Given the description of an element on the screen output the (x, y) to click on. 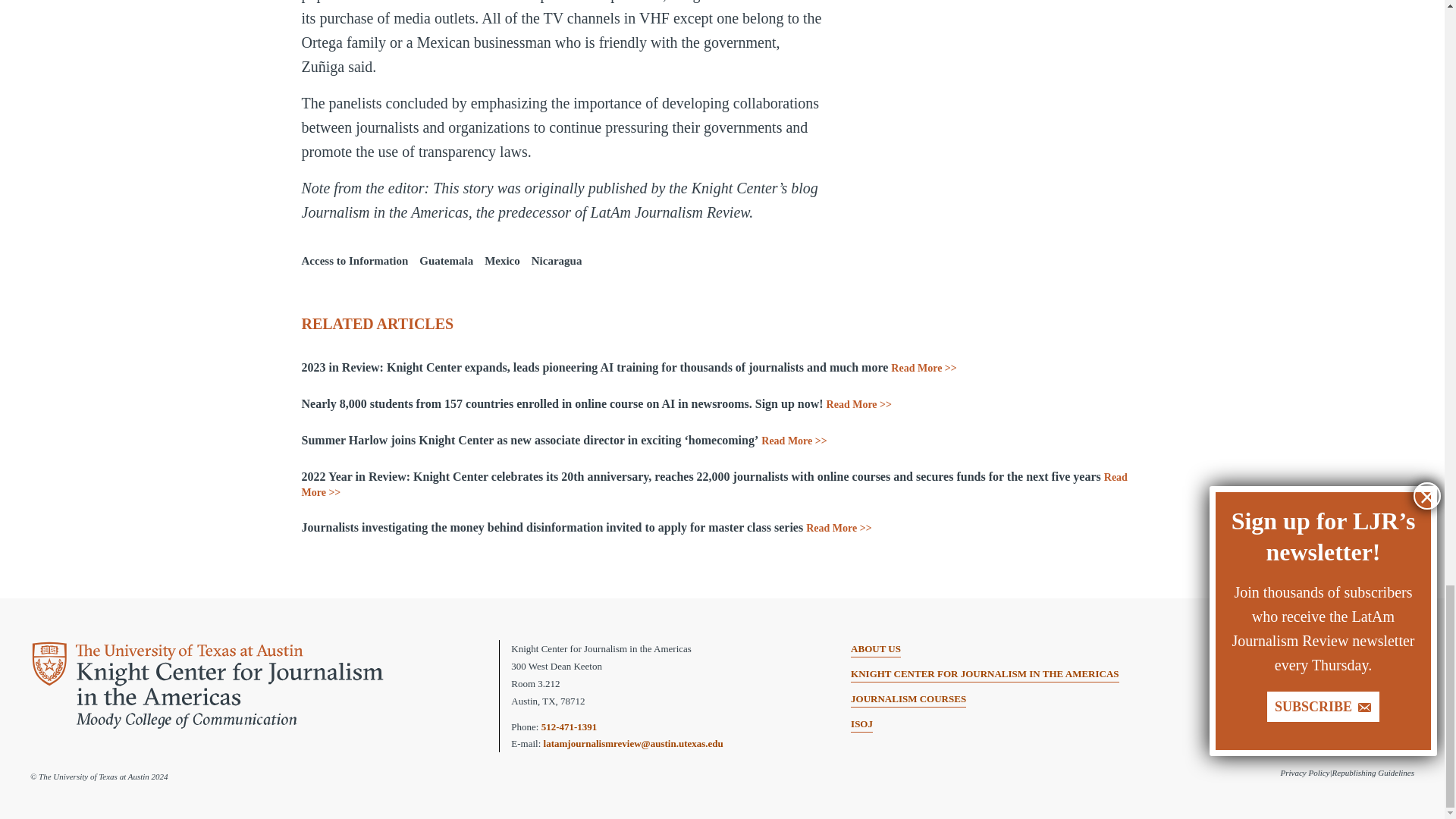
facebook (1356, 649)
Access to Information (355, 260)
linkedin (1403, 649)
Nicaragua (556, 260)
Guatemala (446, 260)
Mexico (501, 260)
youtube (1380, 649)
twitter (1332, 649)
